Given the description of an element on the screen output the (x, y) to click on. 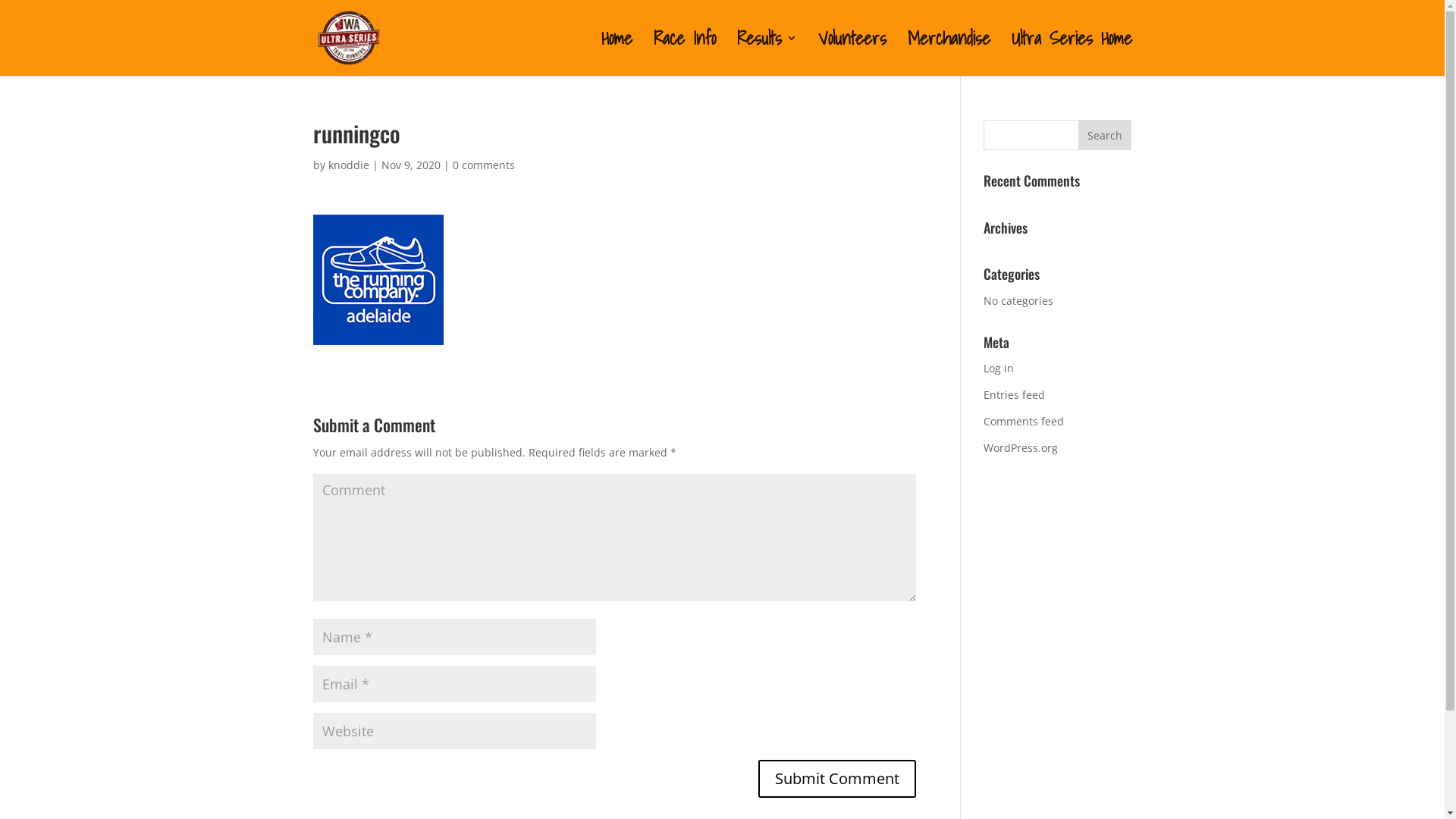
knoddie Element type: text (347, 164)
Search Element type: text (1104, 134)
Race Info Element type: text (684, 53)
Entries feed Element type: text (1013, 394)
Log in Element type: text (998, 367)
0 comments Element type: text (482, 164)
Ultra Series Home Element type: text (1071, 53)
Merchandise Element type: text (947, 53)
Submit Comment Element type: text (837, 778)
Results Element type: text (767, 53)
Comments feed Element type: text (1023, 421)
Home Element type: text (615, 53)
WordPress.org Element type: text (1020, 447)
Volunteers Element type: text (851, 53)
